Given the description of an element on the screen output the (x, y) to click on. 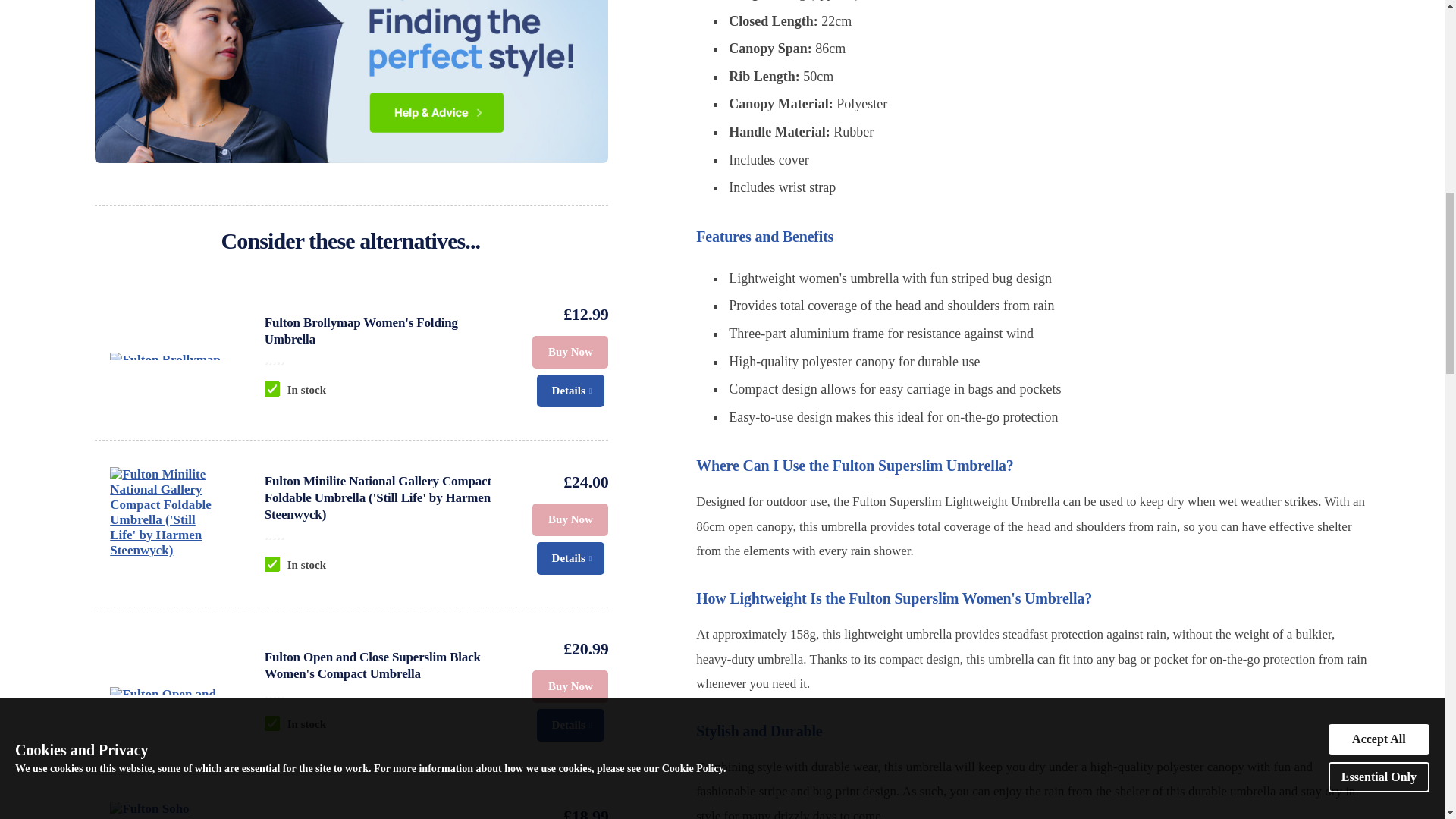
Add to Basket (570, 686)
Not yet reviewed (383, 358)
Add to Basket (570, 519)
Not yet reviewed (383, 693)
Add to Basket (570, 351)
Not yet reviewed (383, 533)
